Given the description of an element on the screen output the (x, y) to click on. 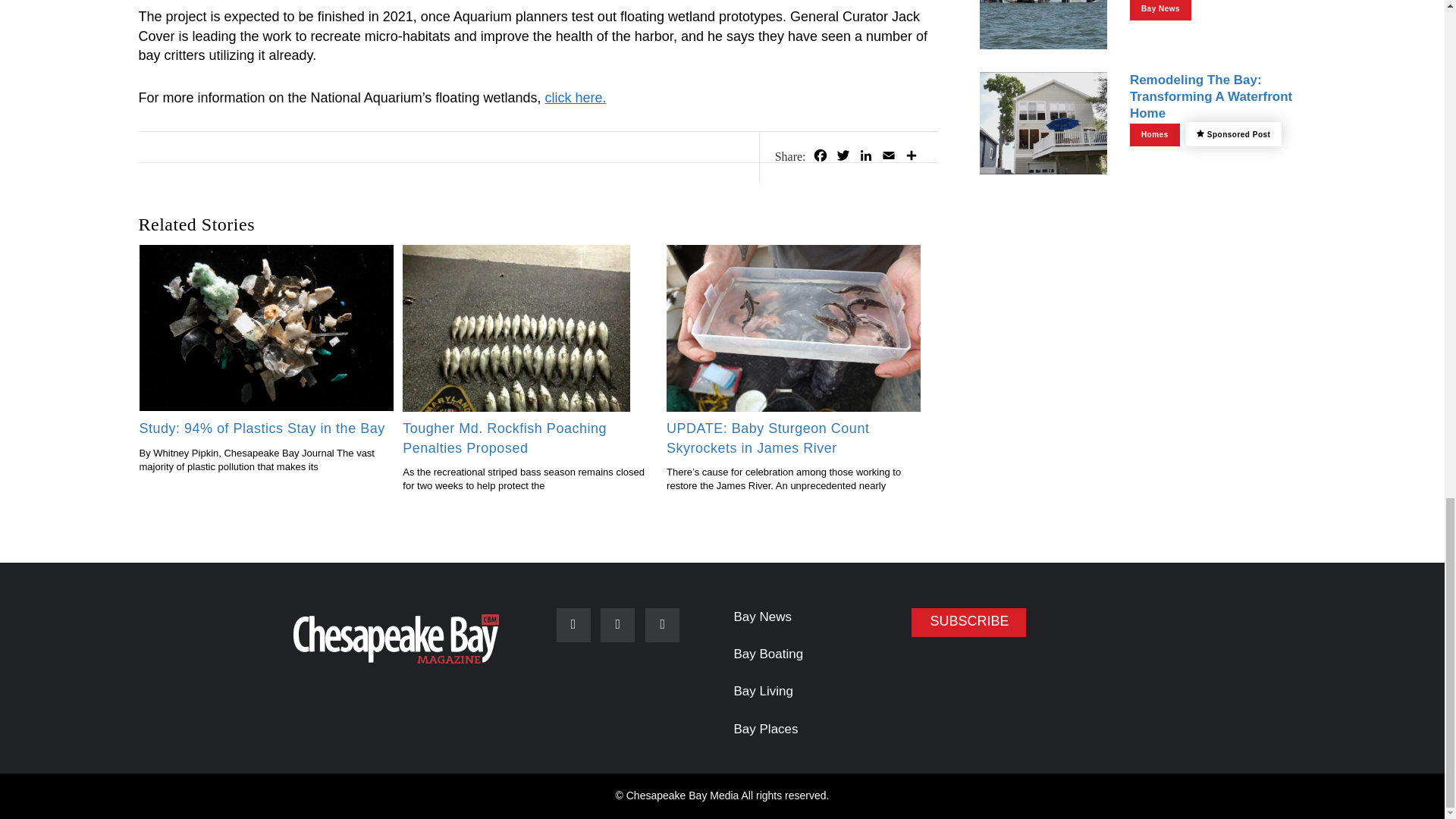
LinkedIn (864, 157)
Facebook (819, 157)
Email (887, 157)
Twitter (842, 157)
